Given the description of an element on the screen output the (x, y) to click on. 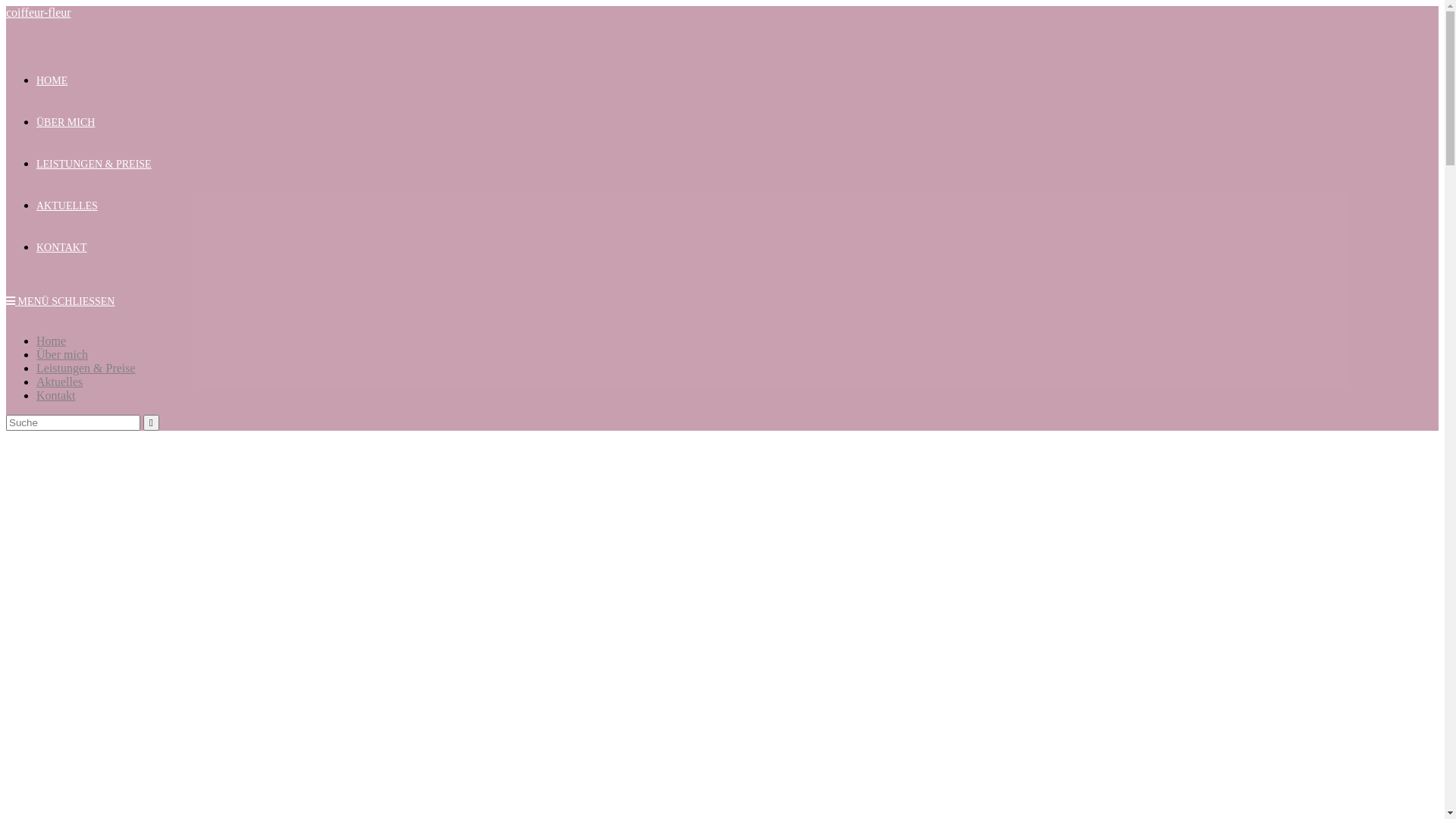
Home Element type: text (50, 340)
LEISTUNGEN & PREISE Element type: text (93, 163)
AKTUELLES Element type: text (66, 205)
KONTAKT Element type: text (61, 247)
coiffeur-fleur Element type: text (38, 12)
Leistungen & Preise Element type: text (85, 367)
HOME Element type: text (51, 80)
Kontakt Element type: text (55, 395)
Aktuelles Element type: text (59, 381)
